Given the description of an element on the screen output the (x, y) to click on. 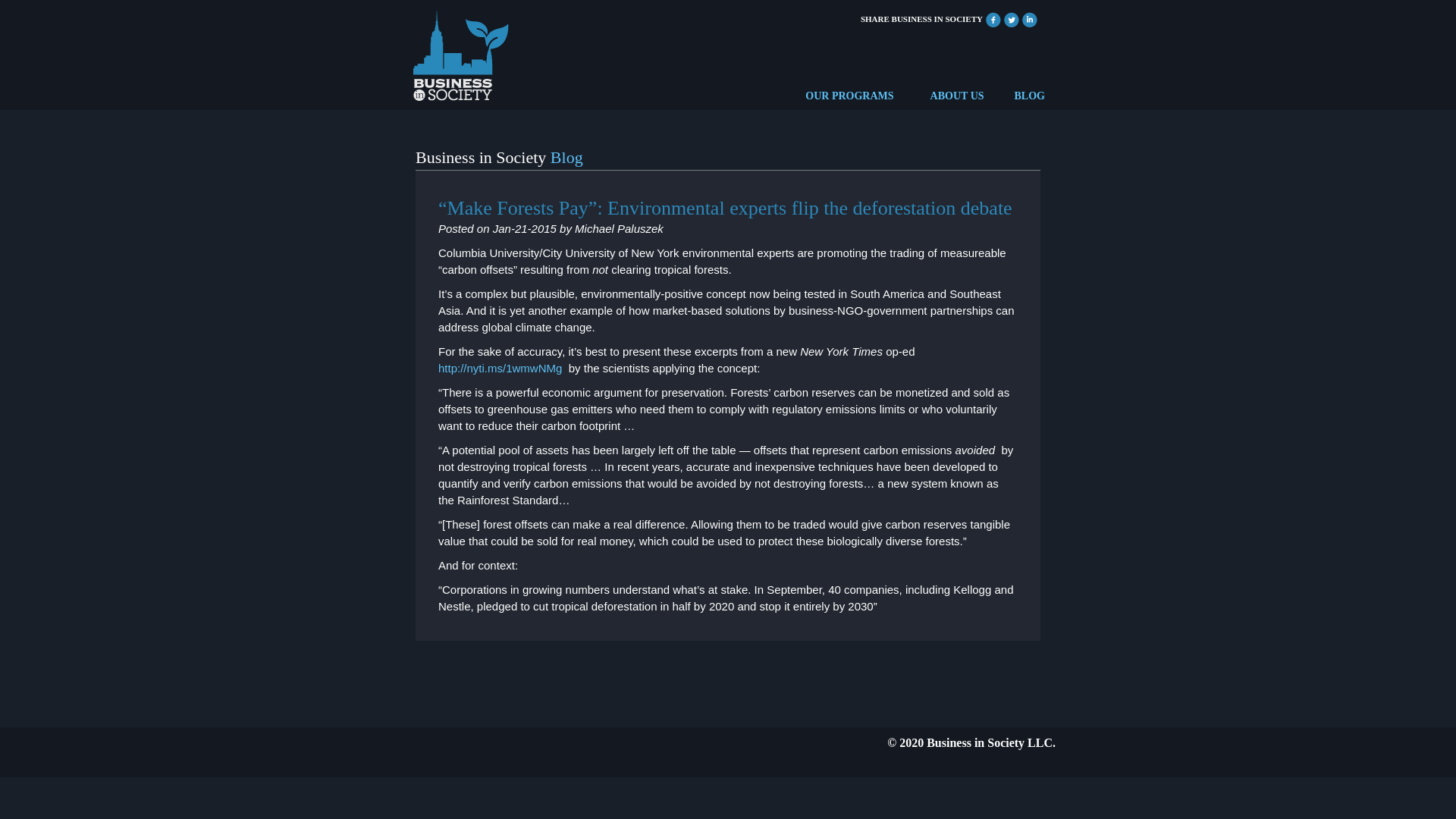
Share On Twitter (1011, 17)
OUR PROGRAMS (849, 96)
Share On LinkedIn (1029, 17)
ABOUT US (957, 96)
Business In Society Home (459, 52)
BLOG (1029, 96)
Facebook (993, 17)
